Given the description of an element on the screen output the (x, y) to click on. 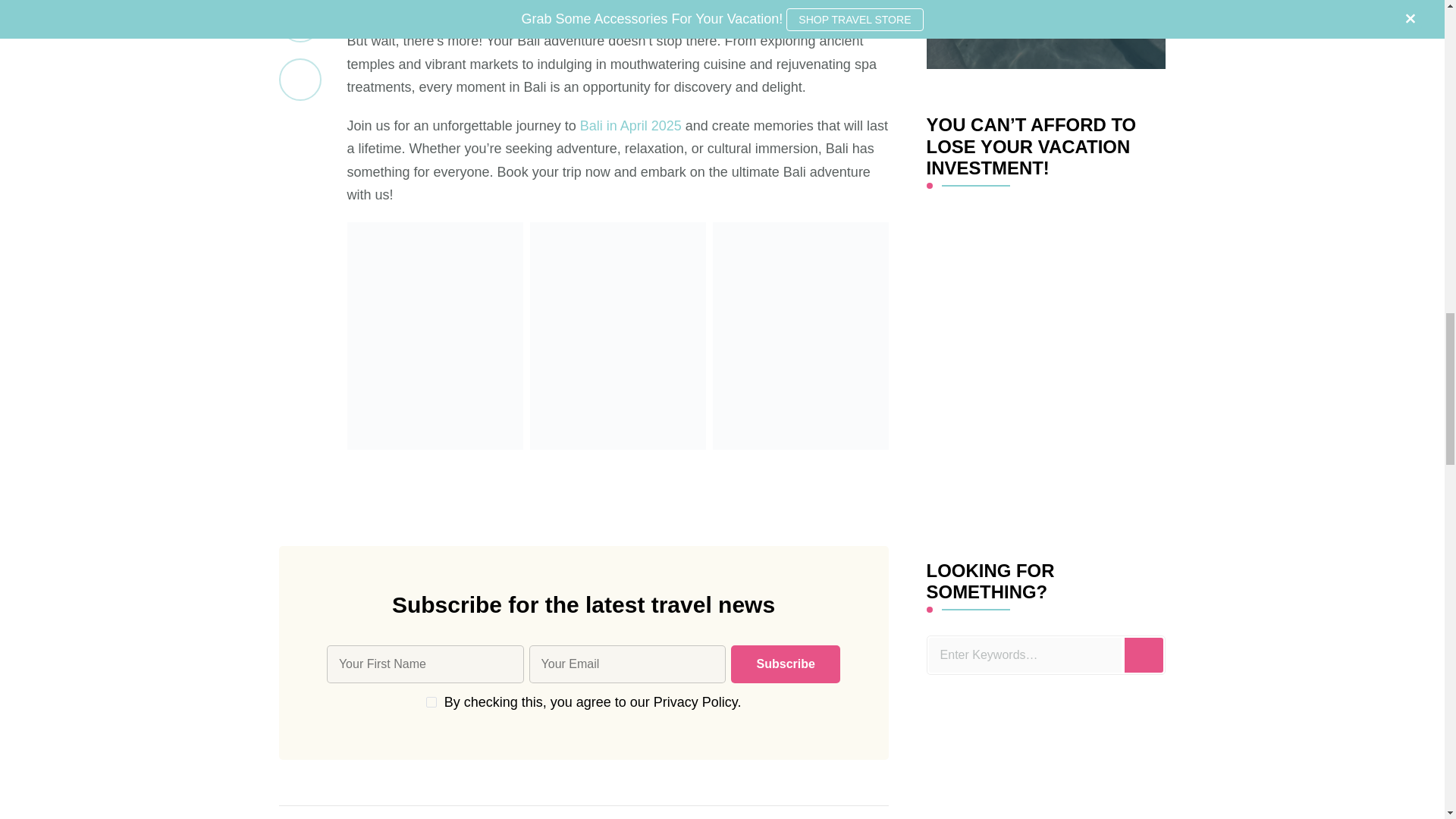
Search (1143, 655)
Subscribe (785, 664)
Search (1143, 655)
